Given the description of an element on the screen output the (x, y) to click on. 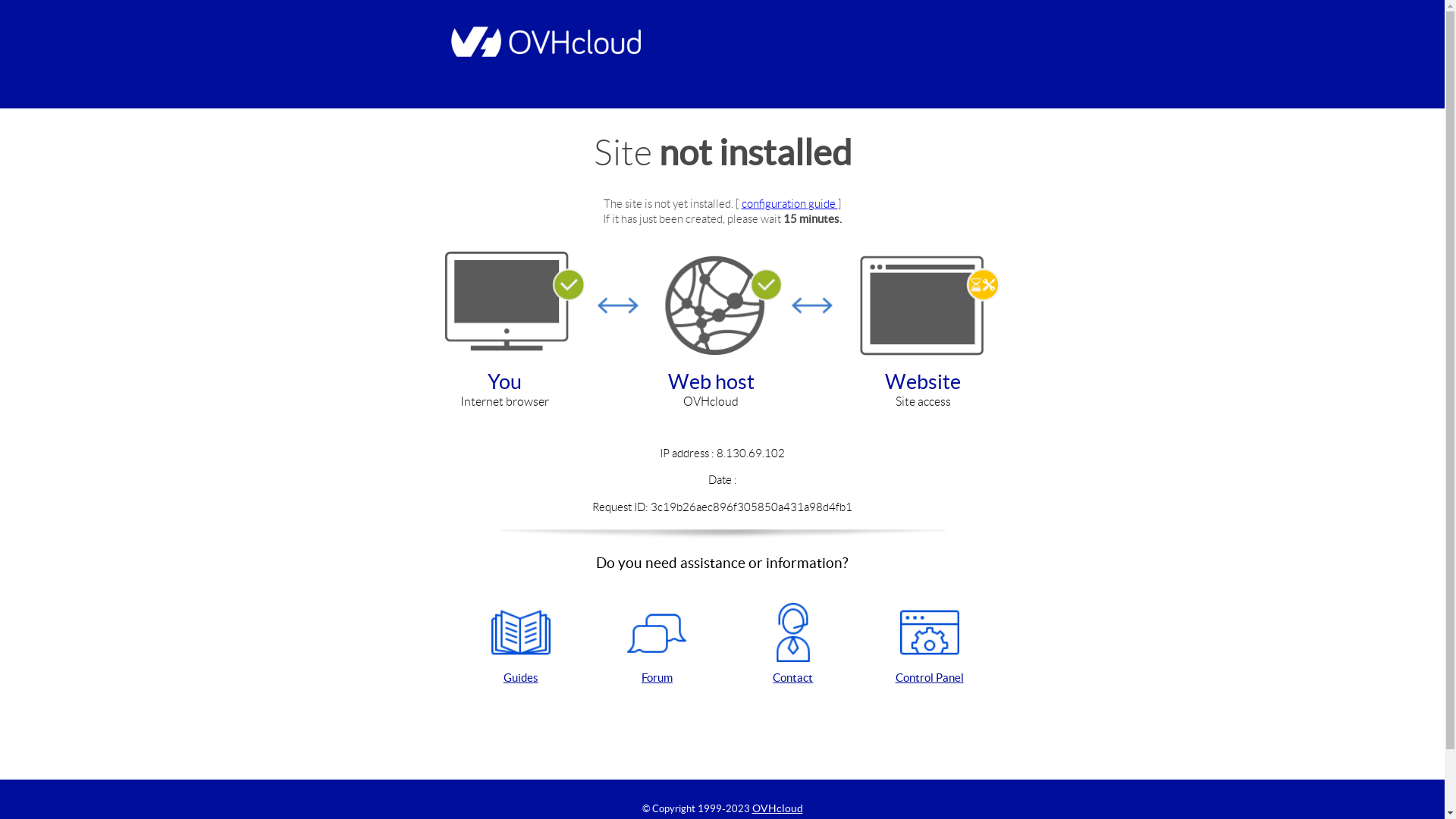
OVHcloud Element type: text (777, 808)
Contact Element type: text (792, 644)
configuration guide Element type: text (789, 203)
Guides Element type: text (520, 644)
Control Panel Element type: text (929, 644)
Forum Element type: text (656, 644)
